Given the description of an element on the screen output the (x, y) to click on. 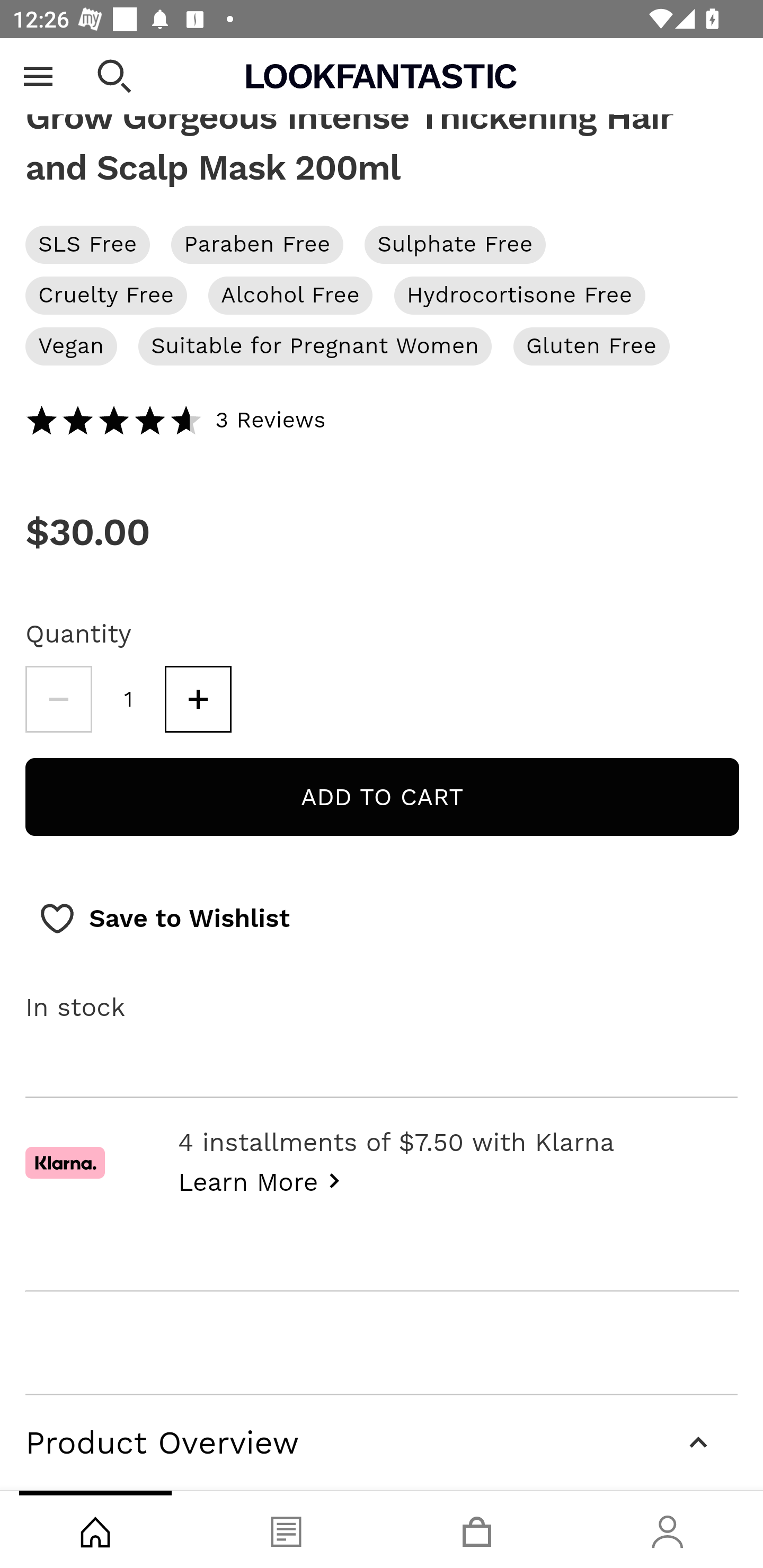
Decrease quantity (58, 699)
1, Quantity (128, 699)
Increase quantity (197, 699)
Add to cart (382, 797)
Save to Wishlist (164, 919)
Learn More about klarna_slice (263, 1179)
Product Overview (381, 1442)
Shop, tab, 1 of 4 (95, 1529)
Blog, tab, 2 of 4 (285, 1529)
Basket, tab, 3 of 4 (476, 1529)
Account, tab, 4 of 4 (667, 1529)
